Given the description of an element on the screen output the (x, y) to click on. 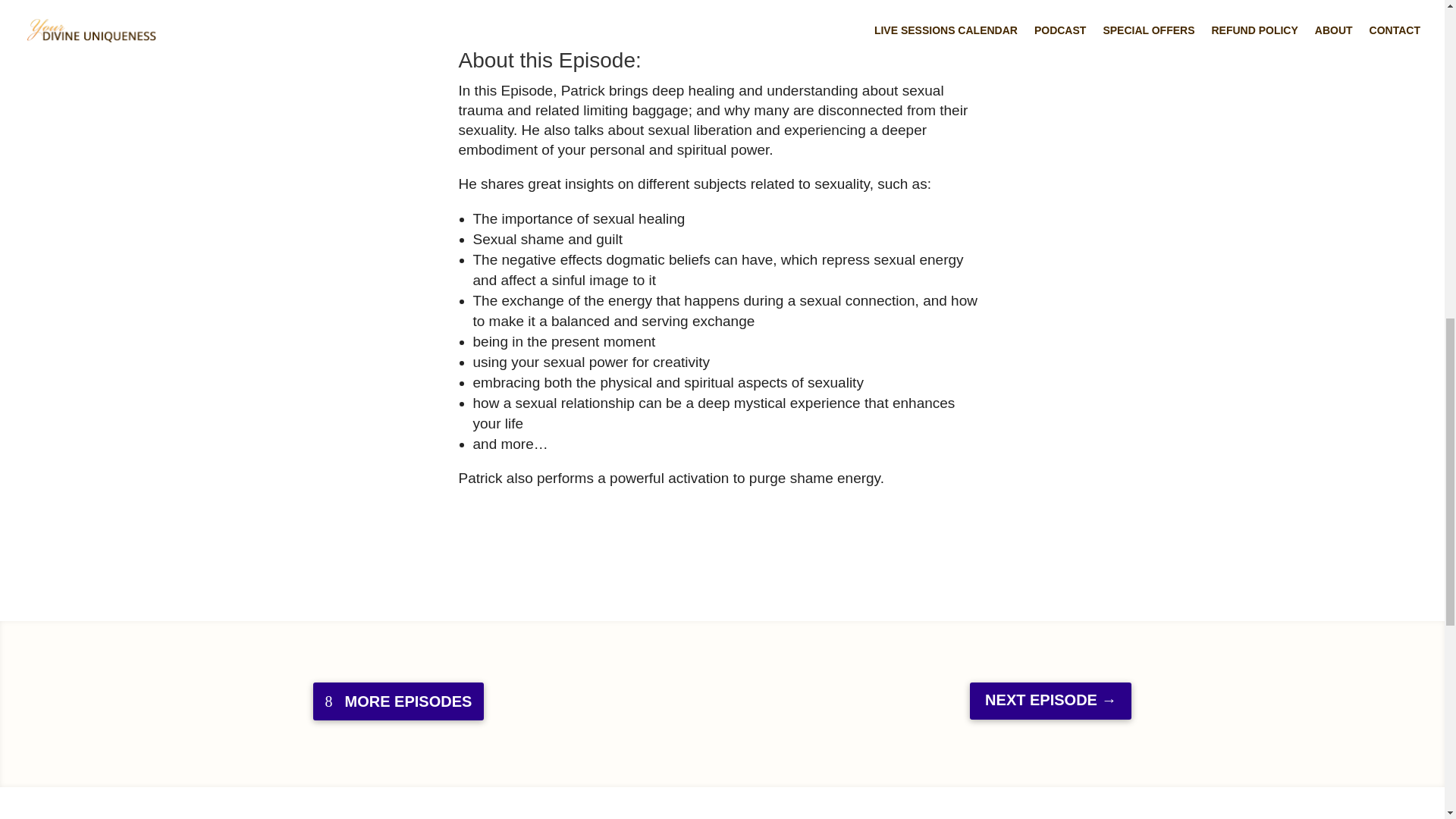
MORE EPISODES (398, 701)
